Given the description of an element on the screen output the (x, y) to click on. 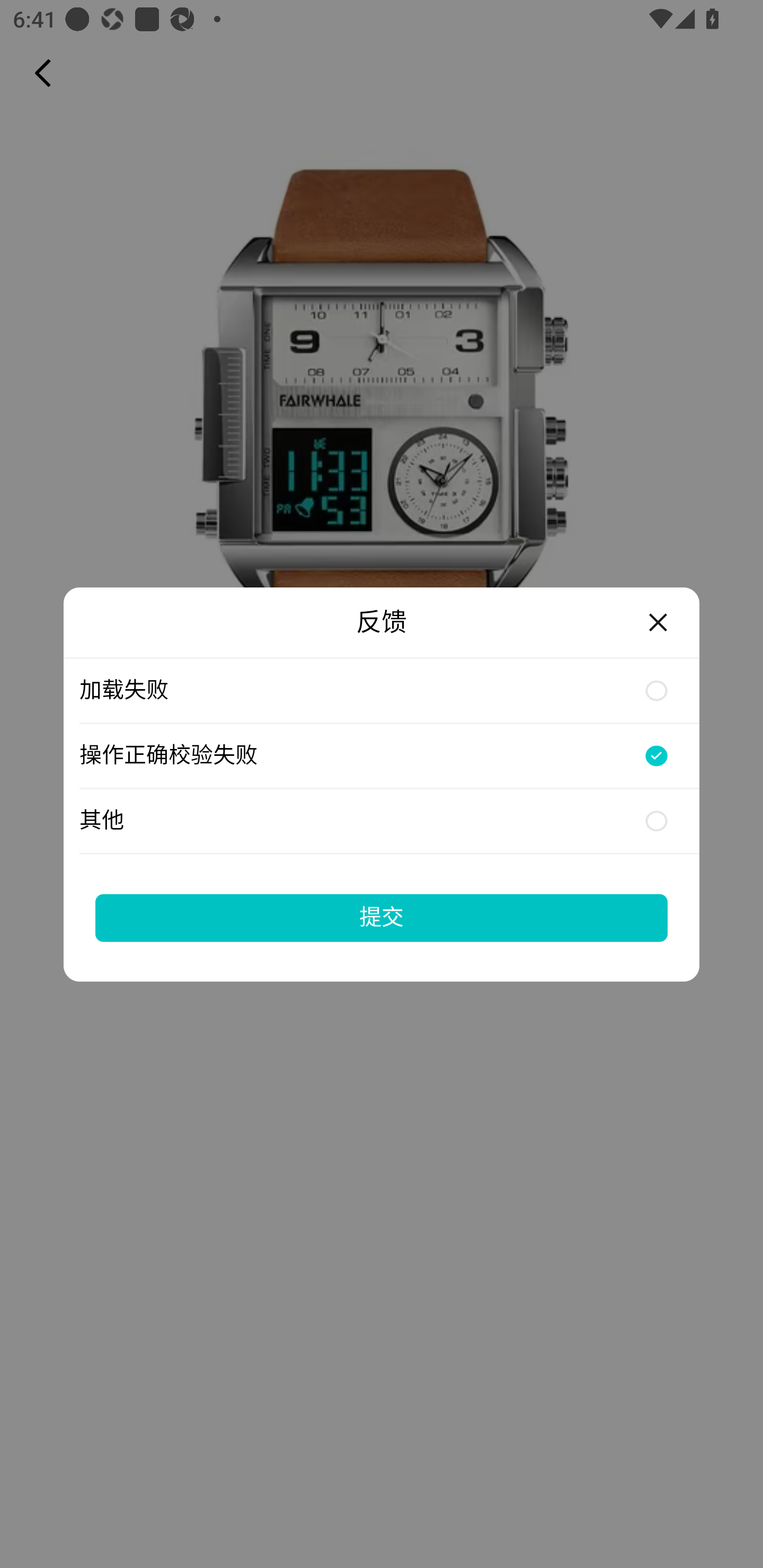
提交 (381, 917)
